Given the description of an element on the screen output the (x, y) to click on. 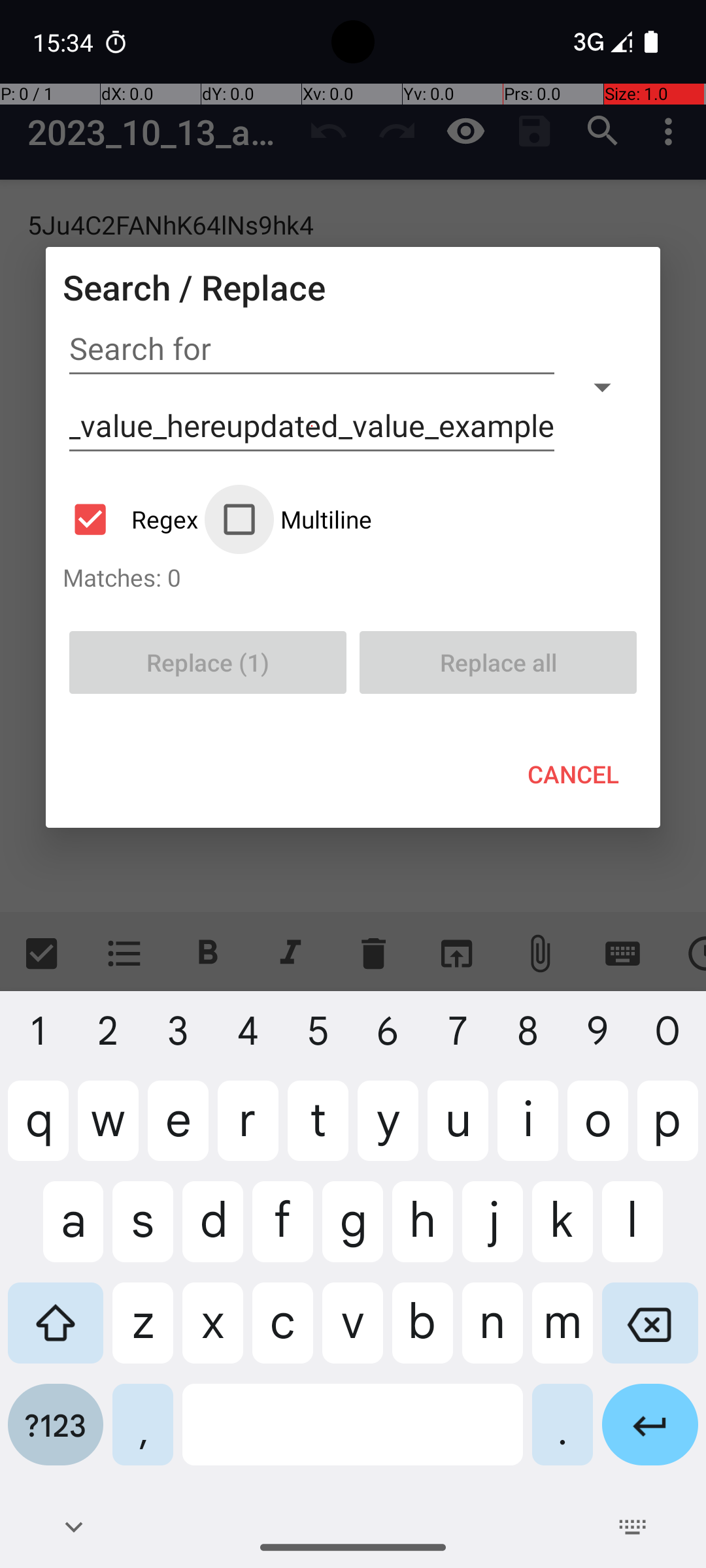
Search / Replace Element type: android.widget.TextView (193, 286)
Search for Element type: android.widget.EditText (311, 348)
new_value_hereupdated_value_example Element type: android.widget.EditText (311, 425)
Regex Element type: android.widget.CheckBox (136, 518)
Multiline Element type: android.widget.CheckBox (298, 518)
Matches: 0 Element type: android.widget.TextView (352, 576)
Replace (1) Element type: android.widget.Button (207, 662)
Replace all Element type: android.widget.Button (498, 662)
